Given the description of an element on the screen output the (x, y) to click on. 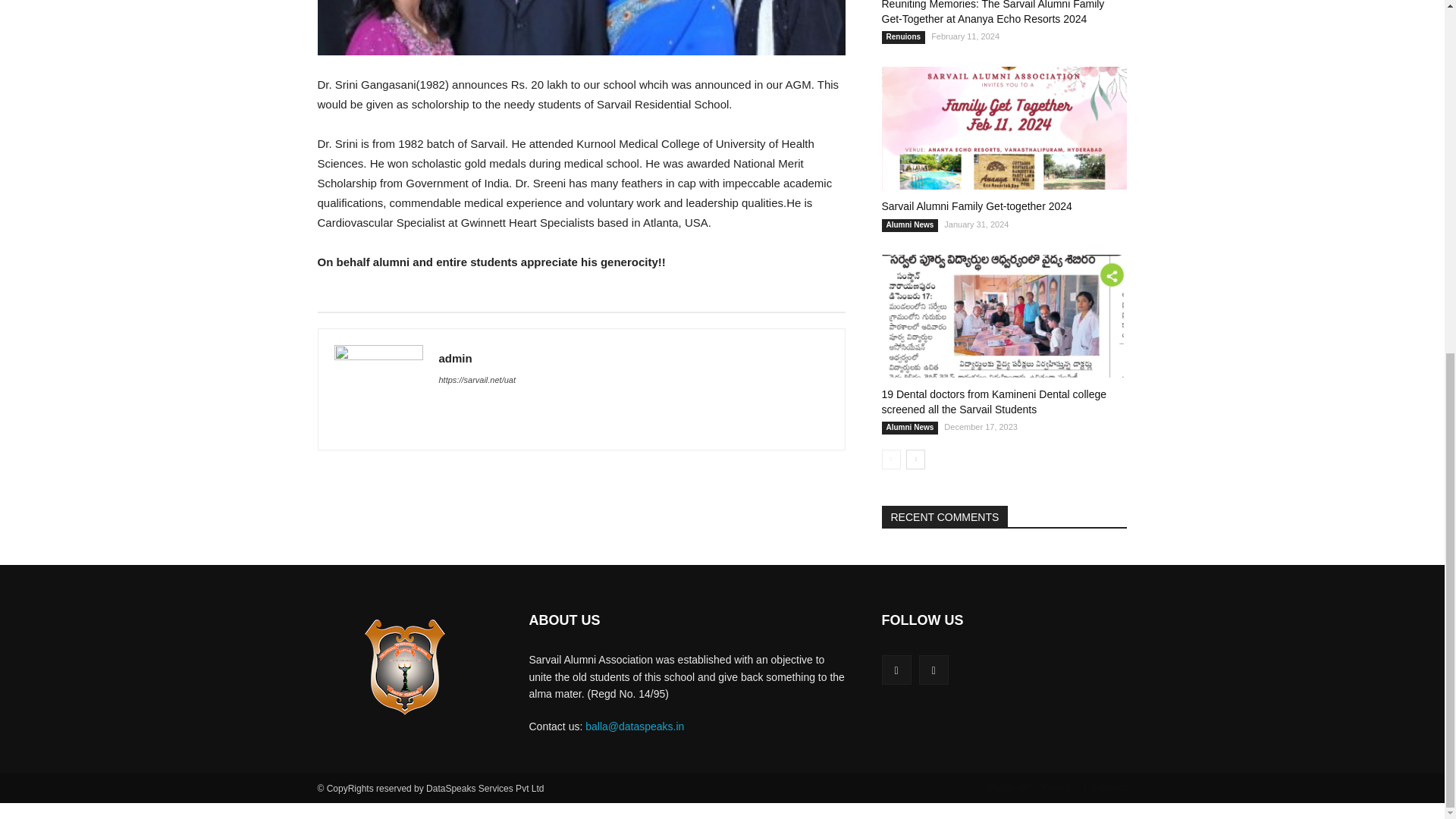
56 (580, 27)
Sarvail Alumni Family Get-together 2024 (1003, 127)
Sarvail Alumni Family Get-together 2024 (975, 205)
